Given the description of an element on the screen output the (x, y) to click on. 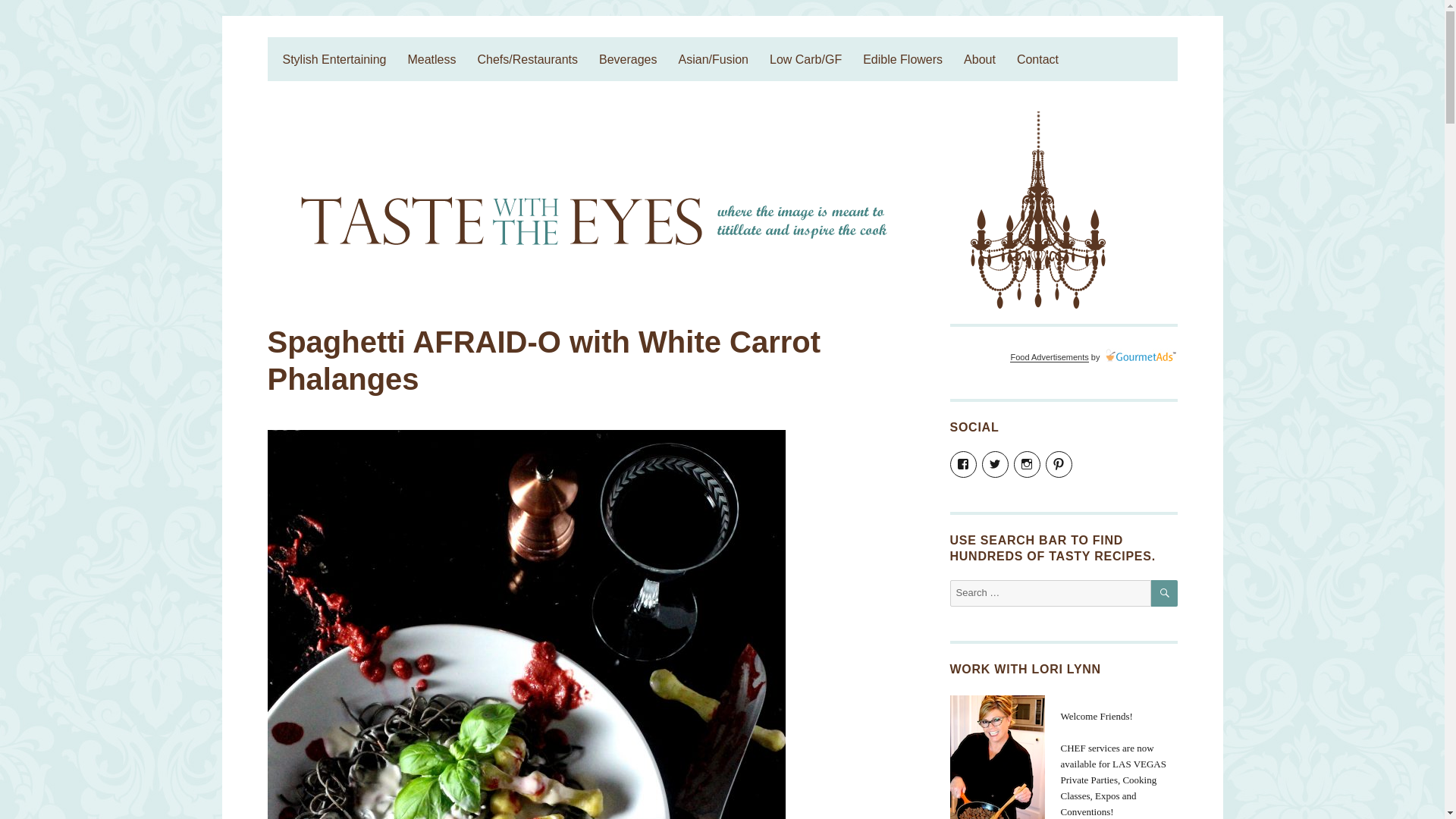
Taste With The Eyes (368, 50)
Meatless (430, 59)
Contact (1037, 59)
Food Advertisements (1048, 356)
Edible Flowers (902, 59)
Beverages (628, 59)
Stylish Entertaining (333, 59)
About (979, 59)
